Given the description of an element on the screen output the (x, y) to click on. 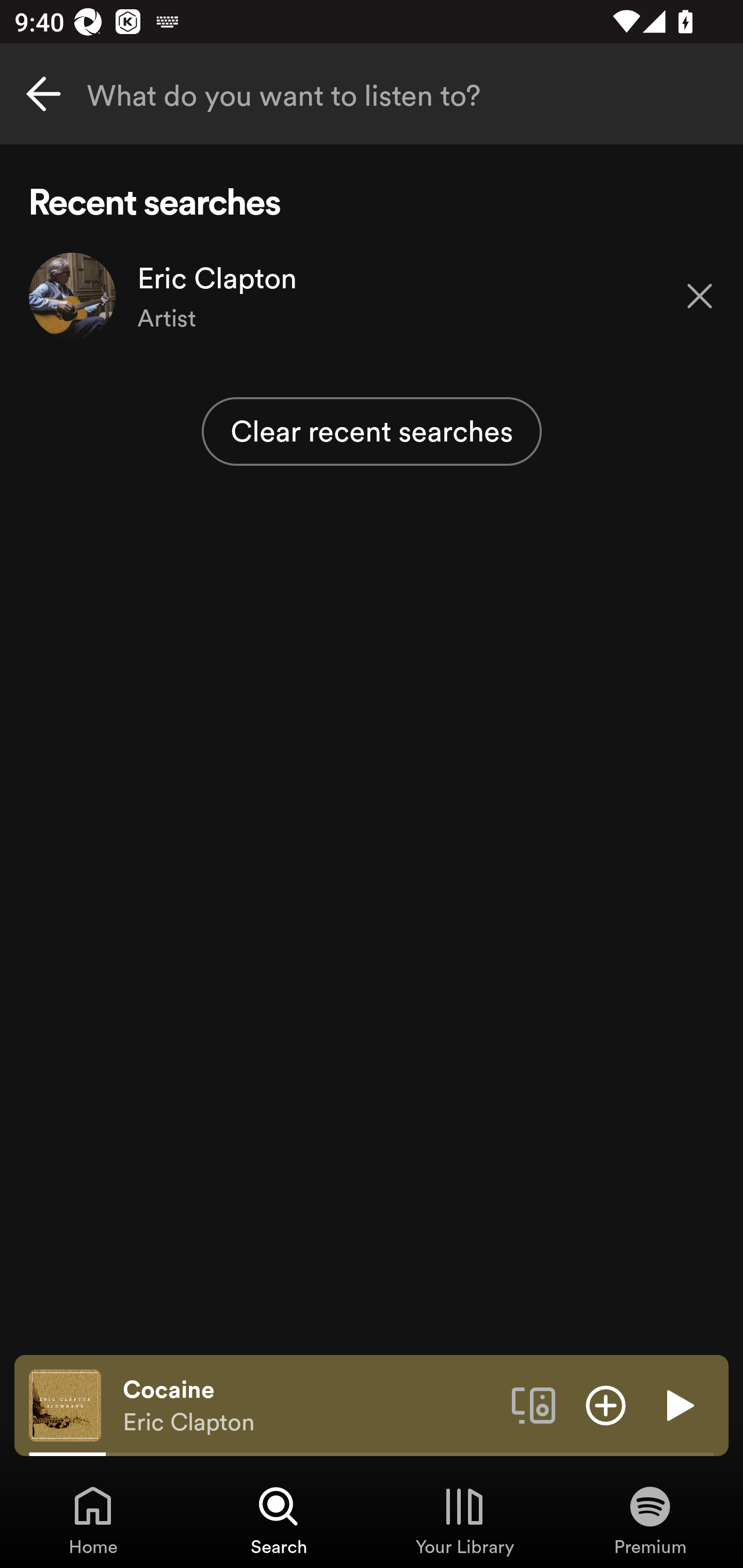
What do you want to listen to? (371, 93)
Cancel (43, 93)
Eric Clapton Artist Remove (371, 296)
Remove (699, 295)
Clear recent searches (371, 430)
Cocaine Eric Clapton (309, 1405)
The cover art of the currently playing track (64, 1404)
Connect to a device. Opens the devices menu (533, 1404)
Add item (605, 1404)
Play (677, 1404)
Home, Tab 1 of 4 Home Home (92, 1519)
Search, Tab 2 of 4 Search Search (278, 1519)
Your Library, Tab 3 of 4 Your Library Your Library (464, 1519)
Premium, Tab 4 of 4 Premium Premium (650, 1519)
